Given the description of an element on the screen output the (x, y) to click on. 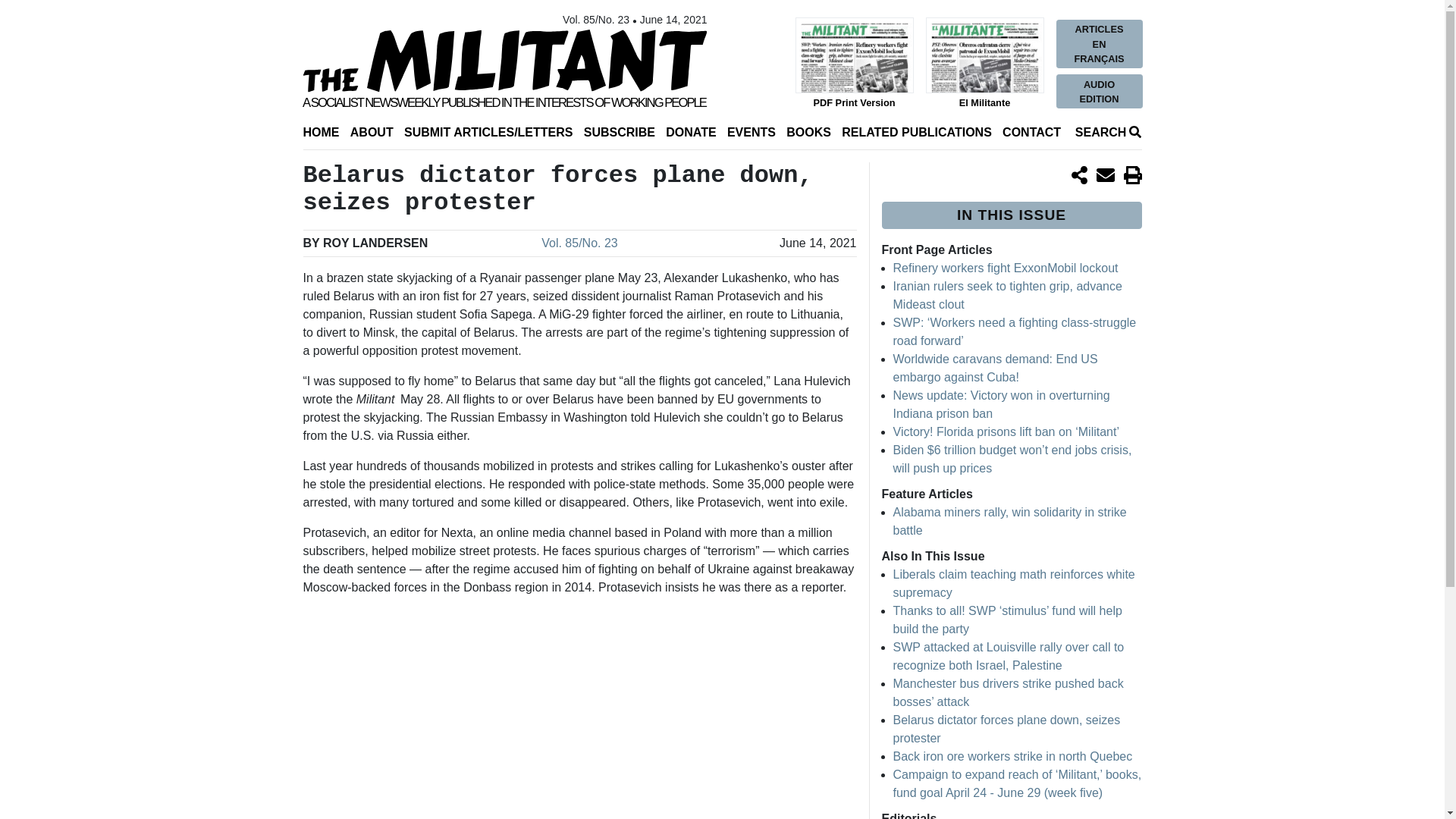
CONTACT (1032, 132)
BOOKS (808, 132)
News update: Victory won in overturning Indiana prison ban (1001, 404)
Events (751, 132)
 SEARCH (1106, 132)
EVENTS (751, 132)
El Militante (980, 64)
Donate (690, 132)
RELATED PUBLICATIONS (916, 132)
Refinery workers fight ExxonMobil lockout (1005, 267)
